Given the description of an element on the screen output the (x, y) to click on. 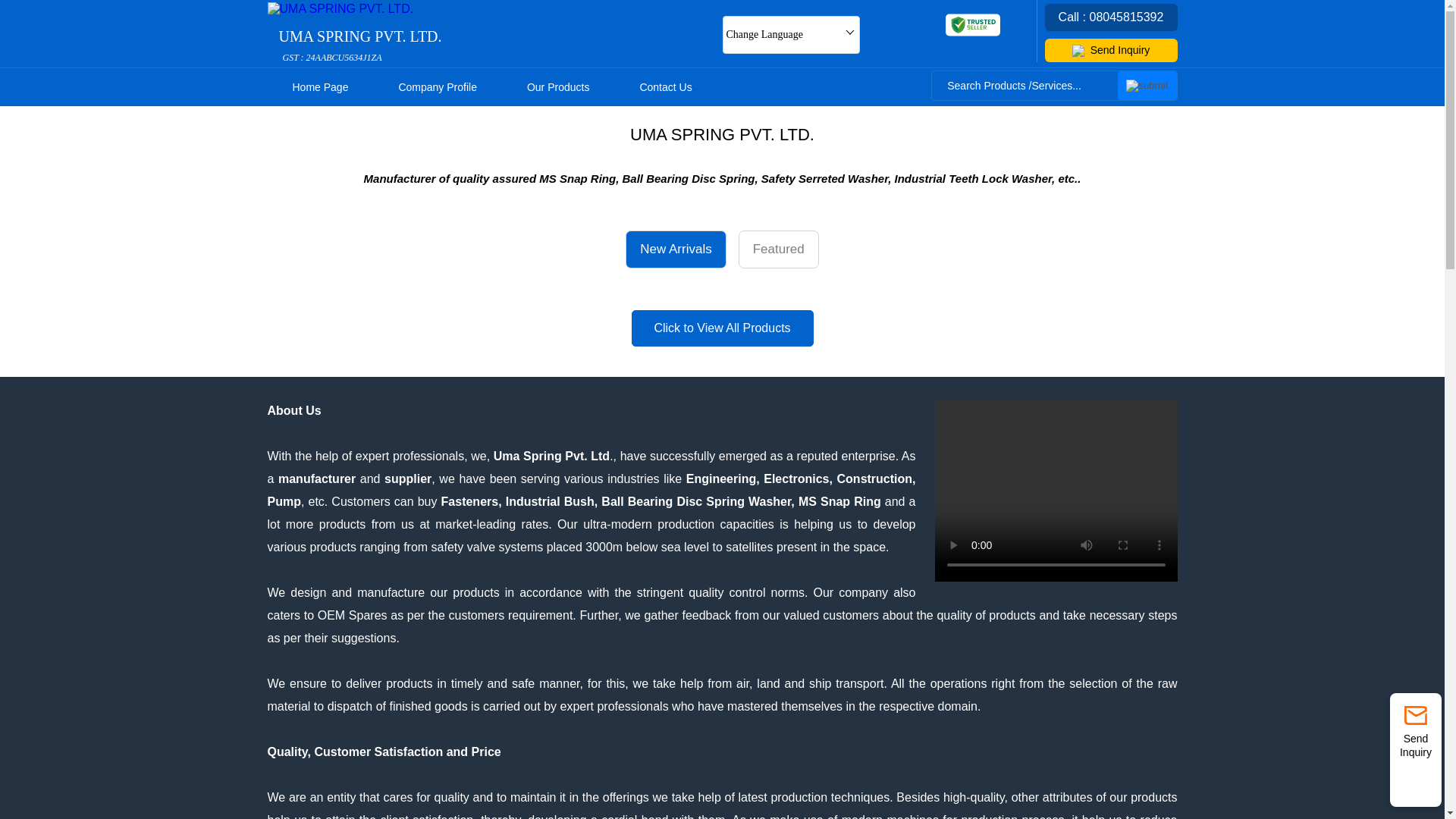
Send Inquiry (1111, 50)
Home Page (319, 86)
Company Profile (437, 86)
submit (1147, 85)
Our Products (360, 45)
Contact Us (558, 86)
